Given the description of an element on the screen output the (x, y) to click on. 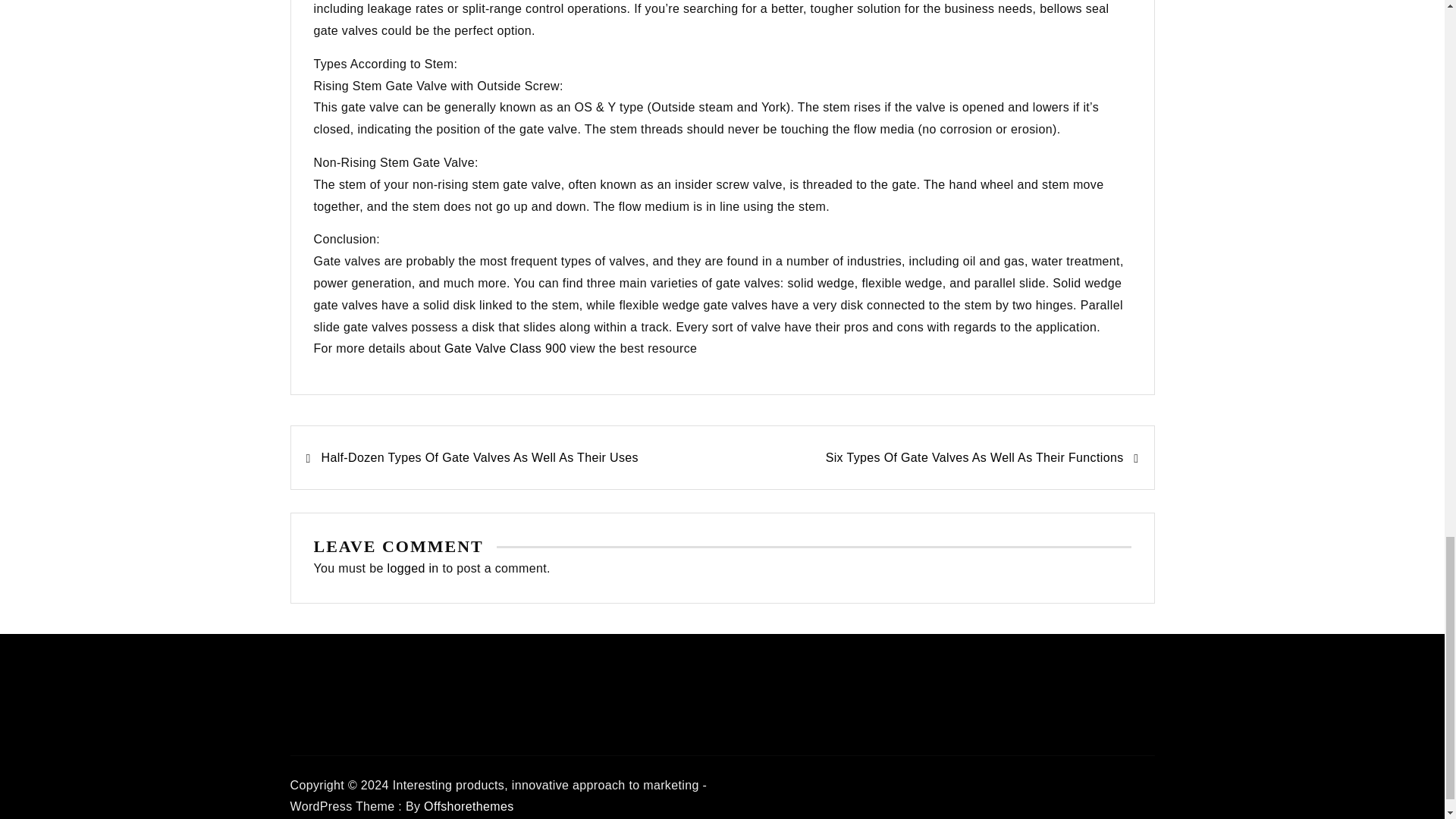
Offshorethemes (468, 806)
Half-Dozen Types Of Gate Valves As Well As Their Uses (513, 457)
logged in (413, 567)
Six Types Of Gate Valves As Well As Their Functions (930, 457)
Gate Valve Class 900 (505, 348)
